Given the description of an element on the screen output the (x, y) to click on. 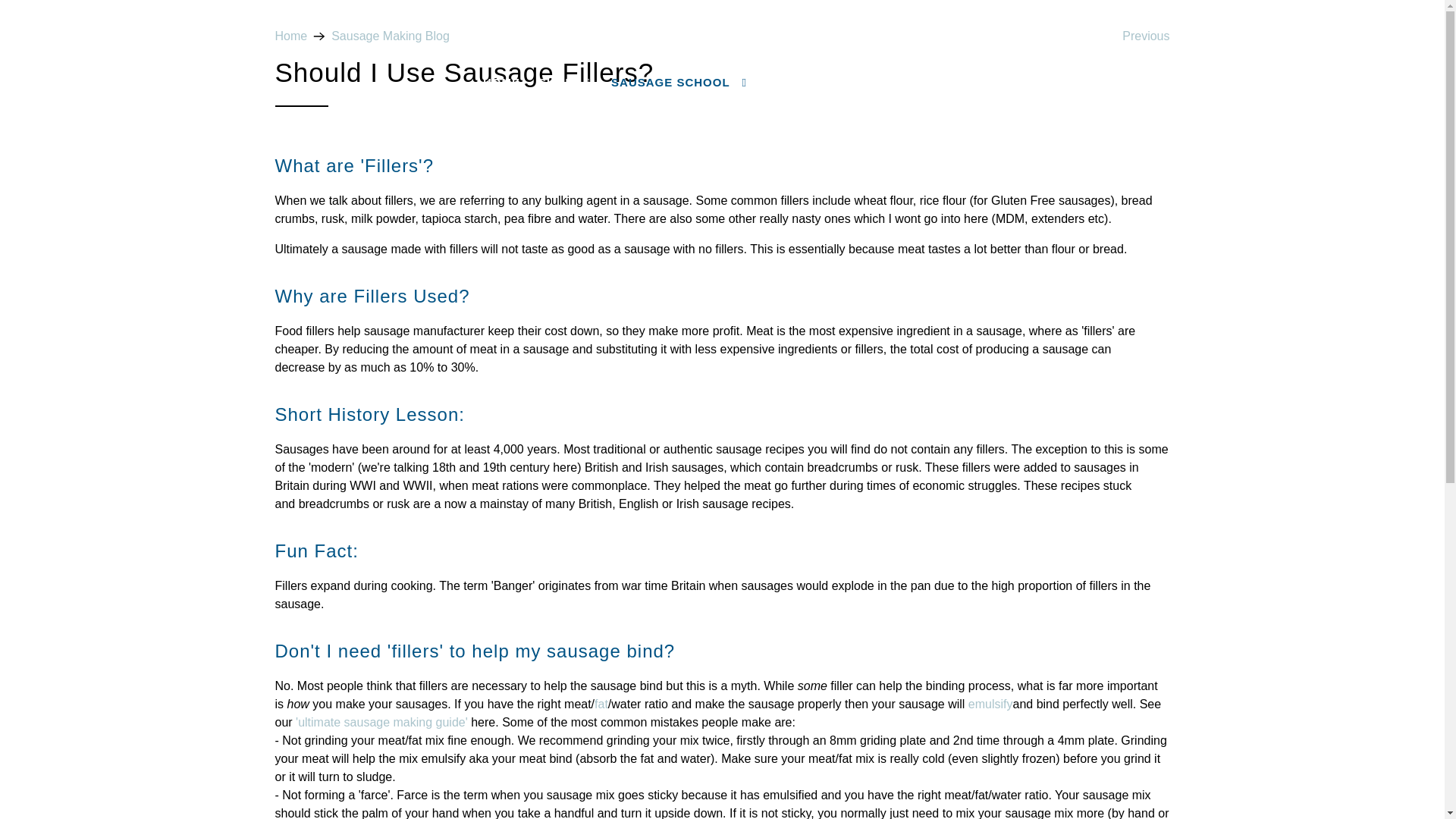
ABOUT US (809, 83)
Sausage Making Blog (390, 36)
sausage making (381, 721)
HOME (501, 83)
WHOLESALE (910, 83)
CONTACT (1053, 83)
FAQ'S (986, 83)
NZ Casings NZ (291, 36)
SHOP (565, 83)
Previous (1145, 36)
